Given the description of an element on the screen output the (x, y) to click on. 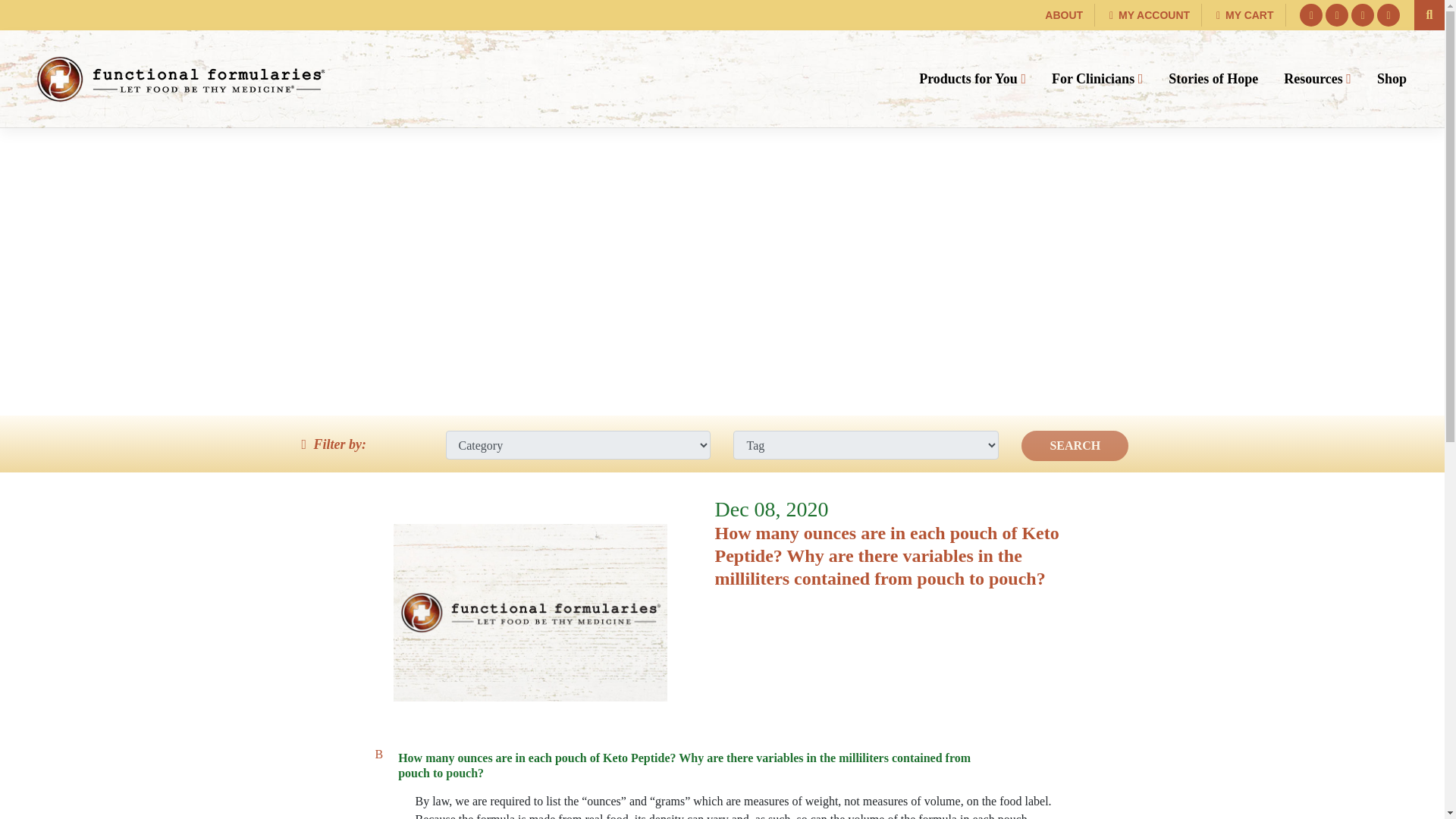
ABOUT (1064, 15)
MY ACCOUNT (1149, 15)
Products for You (971, 79)
MY CART (1244, 15)
